Given the description of an element on the screen output the (x, y) to click on. 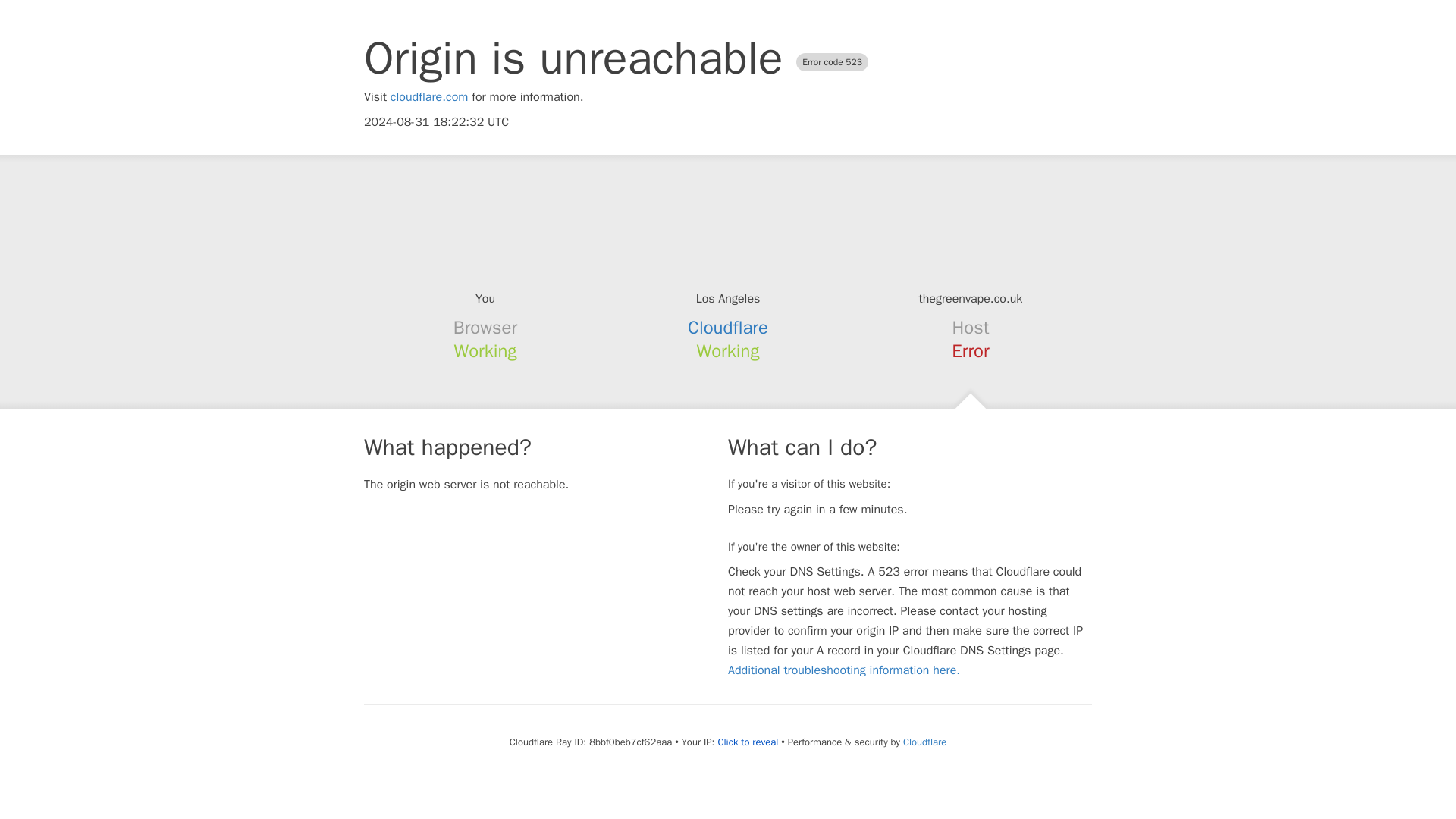
Cloudflare (727, 327)
Click to reveal (747, 742)
cloudflare.com (429, 96)
Cloudflare (924, 741)
Additional troubleshooting information here. (843, 670)
